Given the description of an element on the screen output the (x, y) to click on. 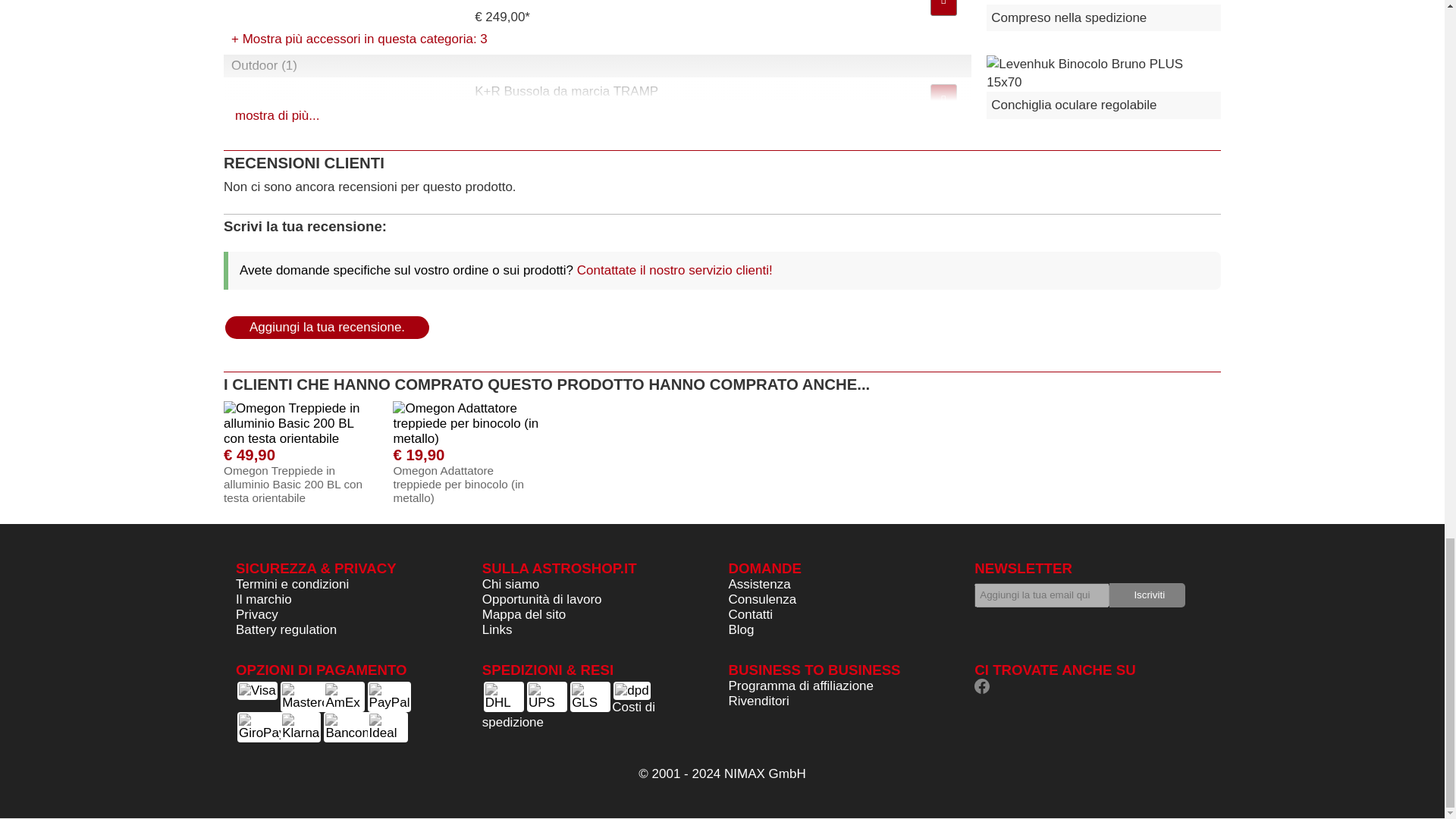
Iscriviti (1147, 595)
